Given the description of an element on the screen output the (x, y) to click on. 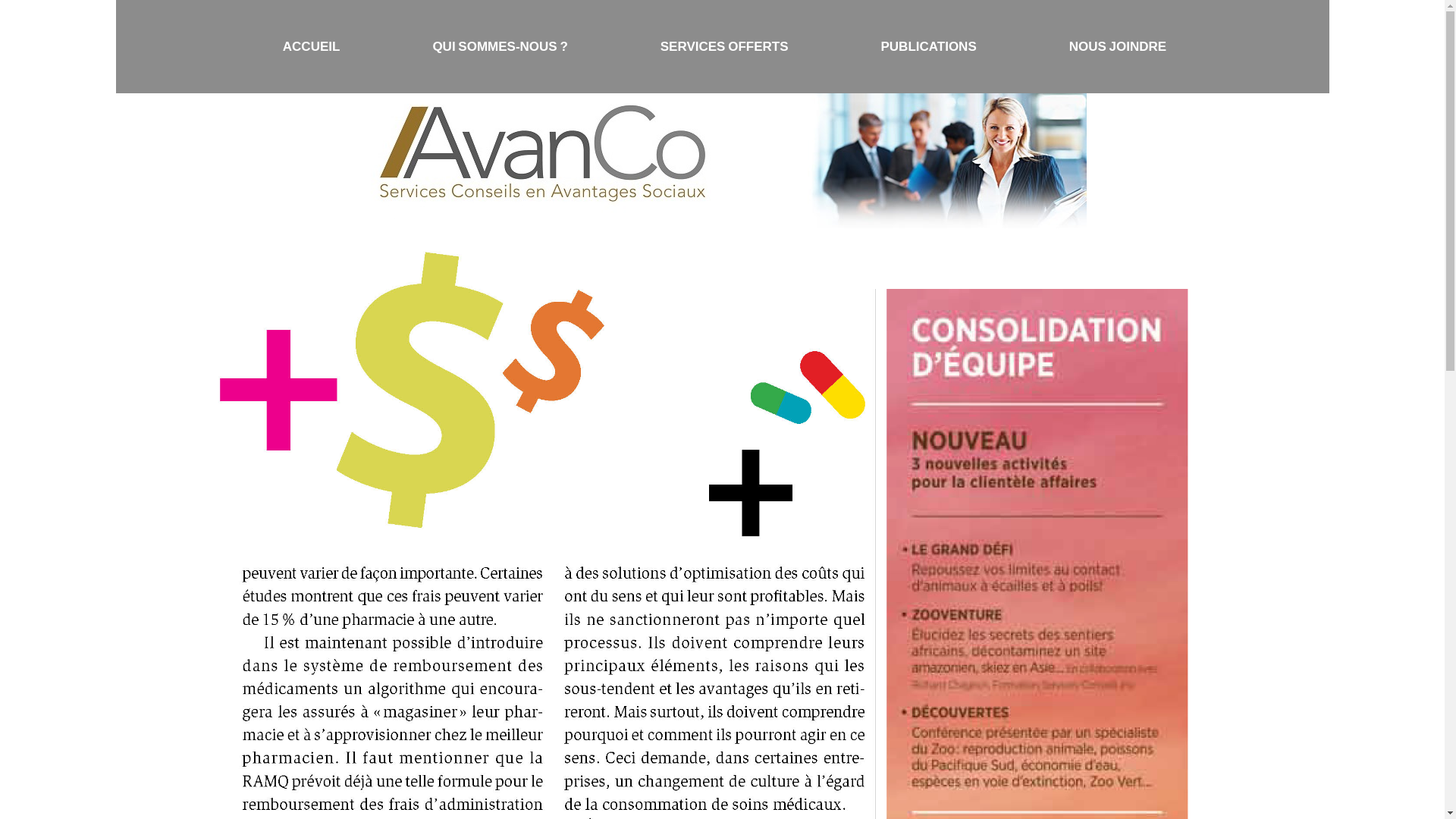
ACCUEIL Element type: text (311, 46)
NOUS JOINDRE Element type: text (1117, 46)
QUI SOMMES-NOUS ? Element type: text (499, 46)
PUBLICATIONS Element type: text (928, 46)
